Given the description of an element on the screen output the (x, y) to click on. 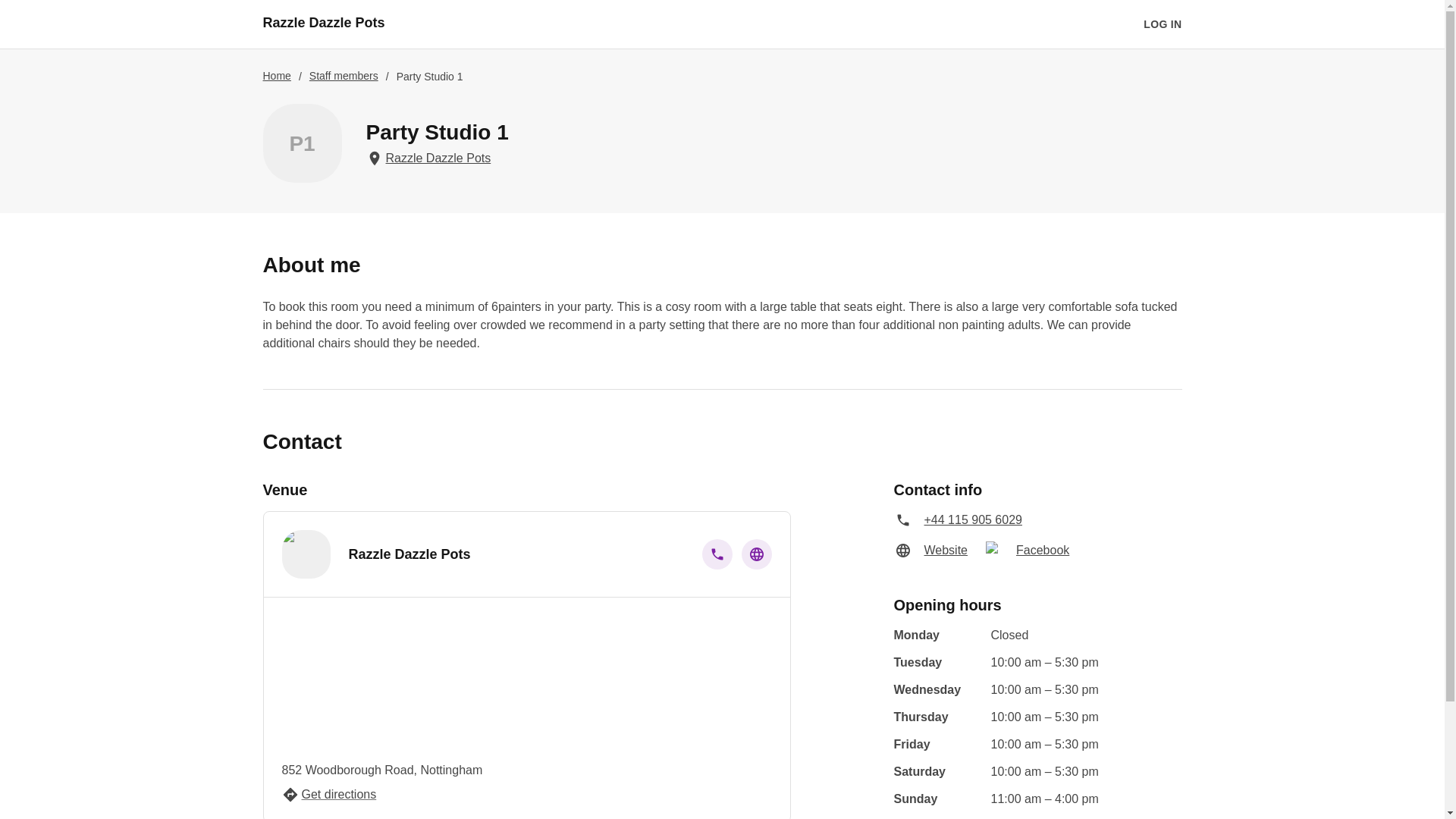
LOG IN (1161, 24)
Razzle Dazzle Pots (323, 23)
Razzle Dazzle Pots (436, 158)
Facebook (1042, 550)
Website (945, 550)
Get directions (329, 794)
Home (275, 76)
Staff members (343, 76)
